Given the description of an element on the screen output the (x, y) to click on. 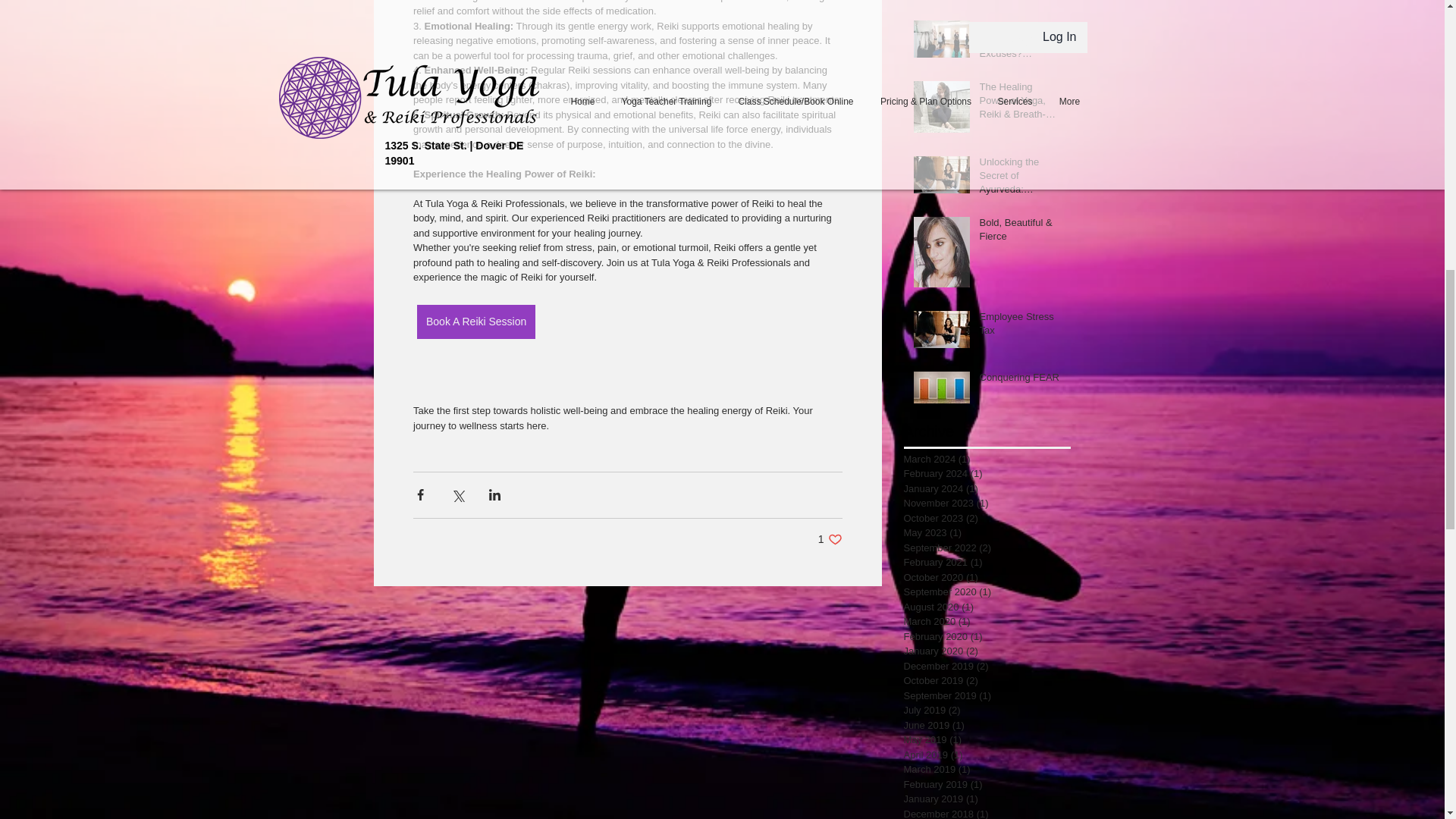
Conquering FEAR (1020, 380)
Book A Reiki Session (830, 539)
Employee Stress Tax (475, 322)
